Given the description of an element on the screen output the (x, y) to click on. 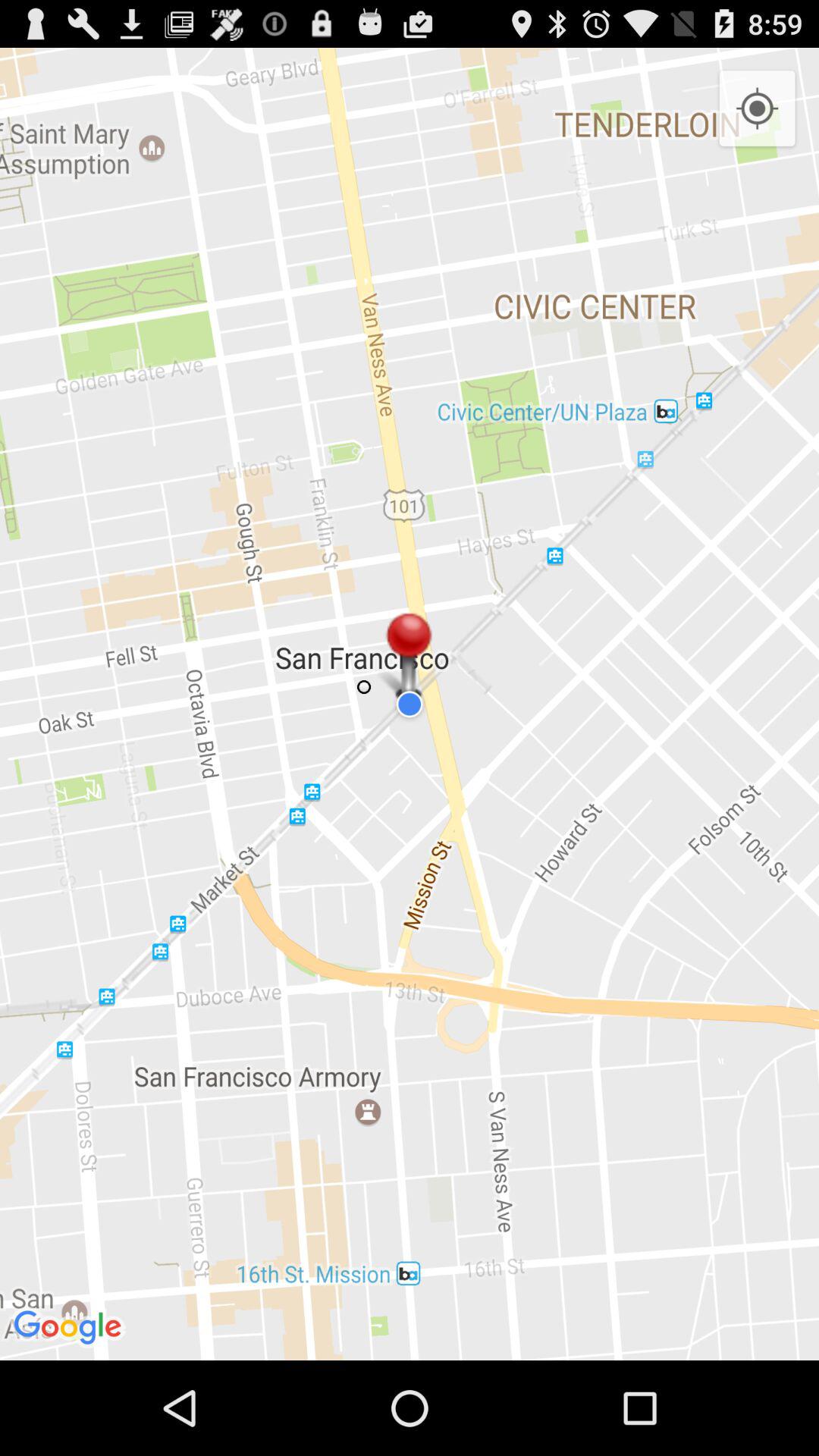
press the item at the top right corner (757, 109)
